Given the description of an element on the screen output the (x, y) to click on. 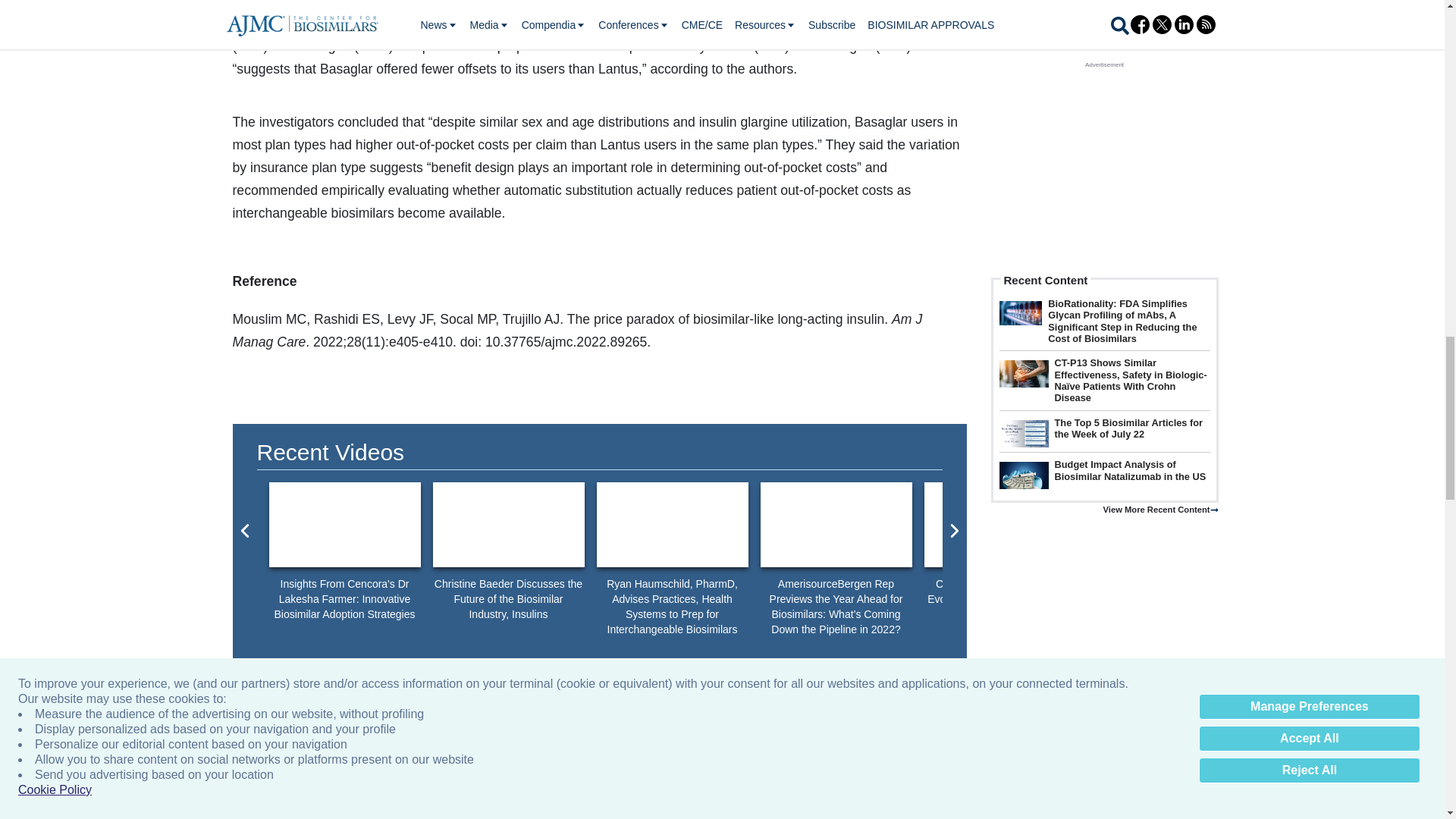
Lakesha Farmer from Cencora (343, 525)
Christine Baeder (507, 525)
Sean McGowan (835, 525)
Ryan Haumschild, PharmD, MS, MBA (671, 525)
